Given the description of an element on the screen output the (x, y) to click on. 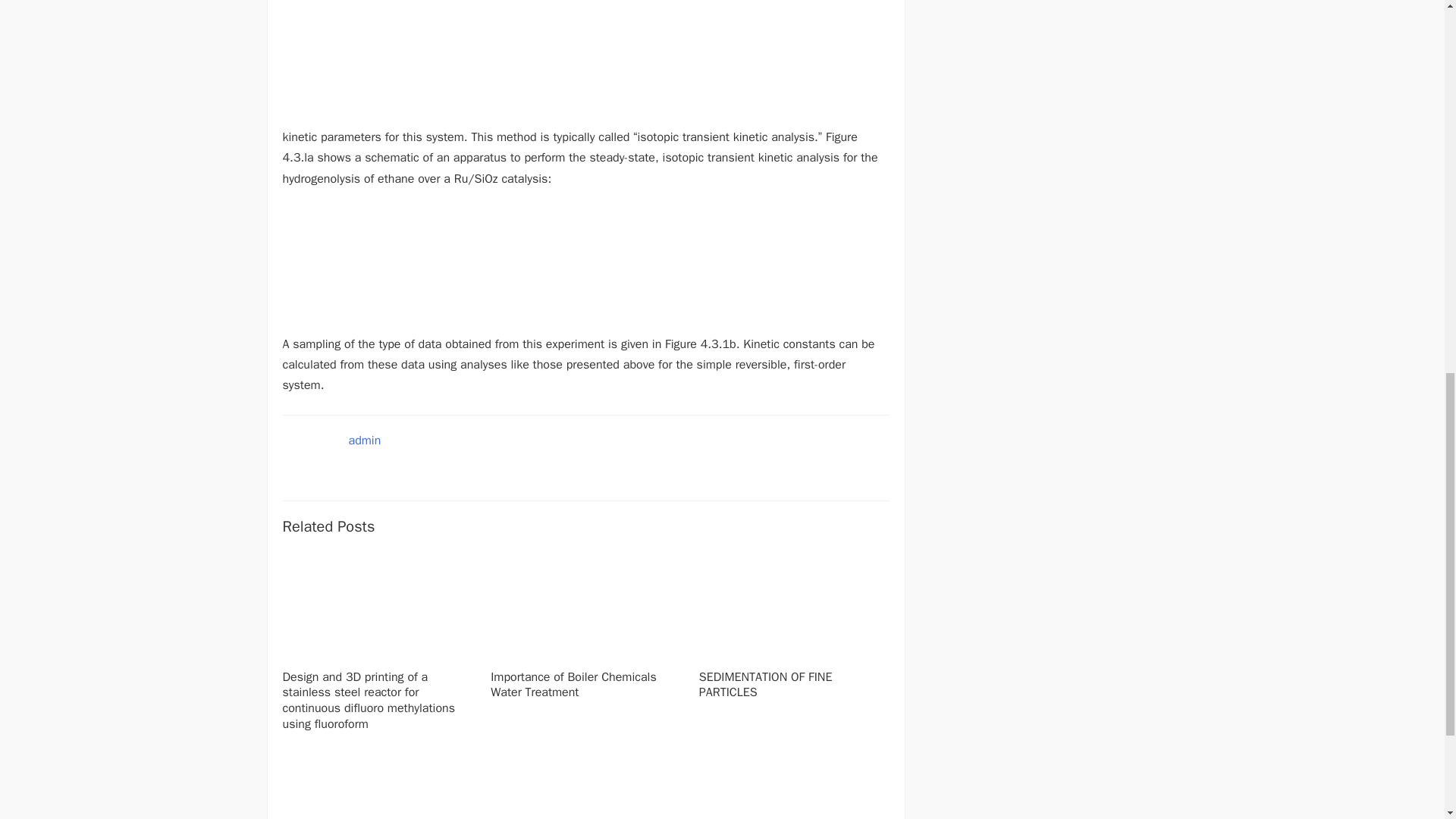
SEDIMENTATION OF FINE PARTICLES (765, 685)
Importance of Boiler Chemicals Water Treatment (573, 685)
admin (365, 440)
